Given the description of an element on the screen output the (x, y) to click on. 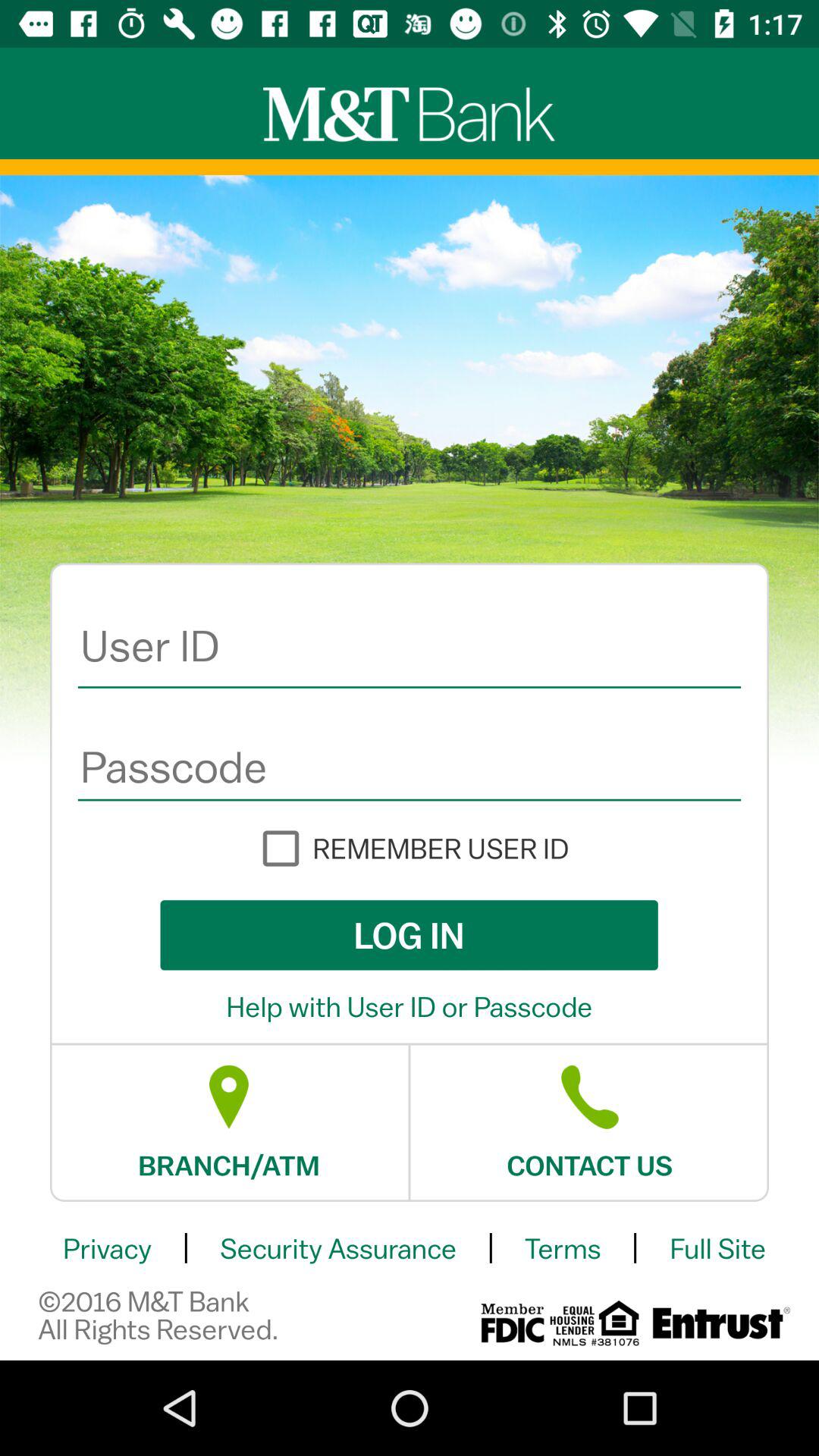
press item above the 2016 m t (107, 1247)
